Given the description of an element on the screen output the (x, y) to click on. 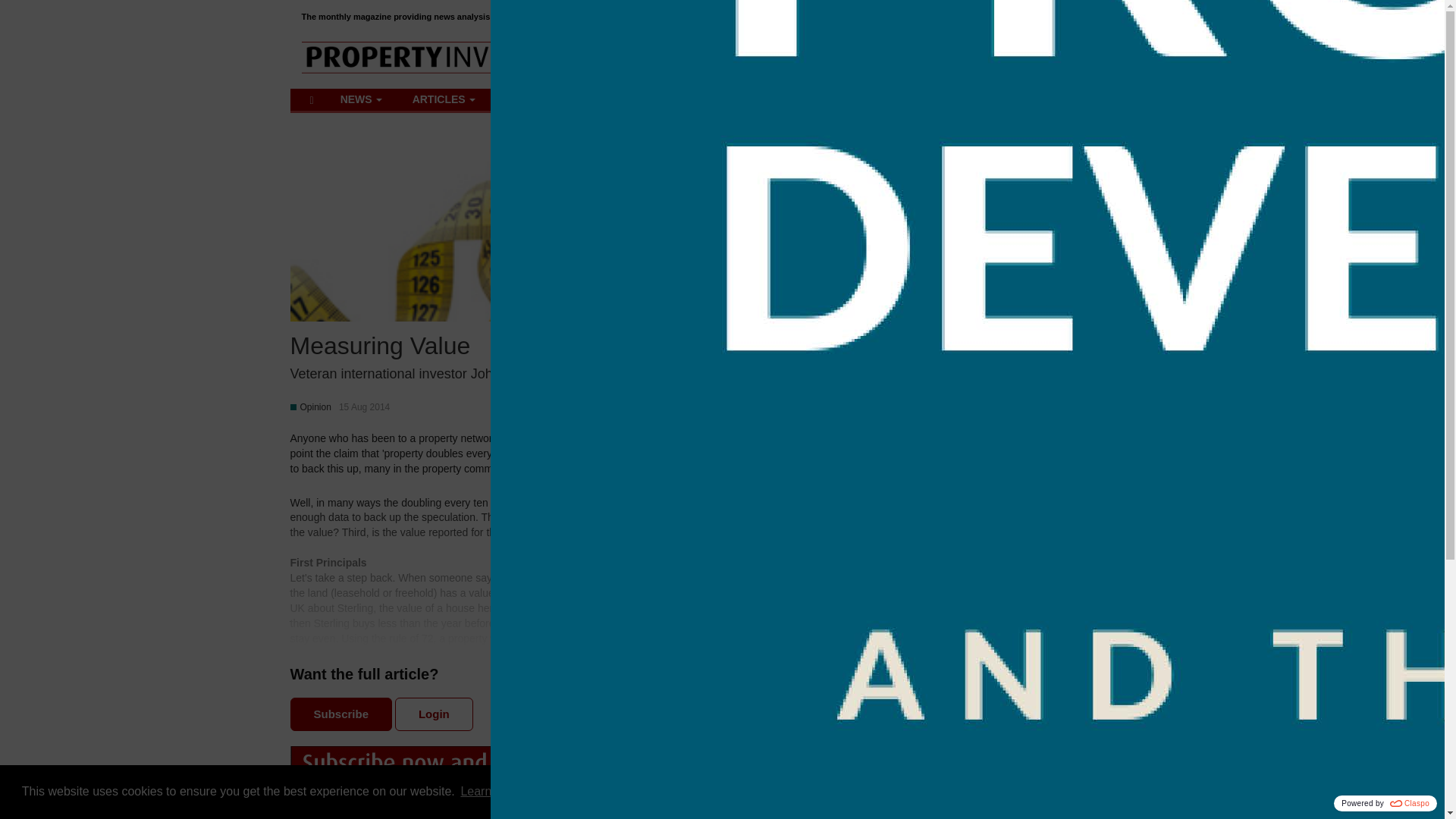
Learn more (491, 791)
LOGIN (1122, 59)
NEWS (1032, 59)
ARTICLES (361, 99)
Got it! (443, 99)
